Given the description of an element on the screen output the (x, y) to click on. 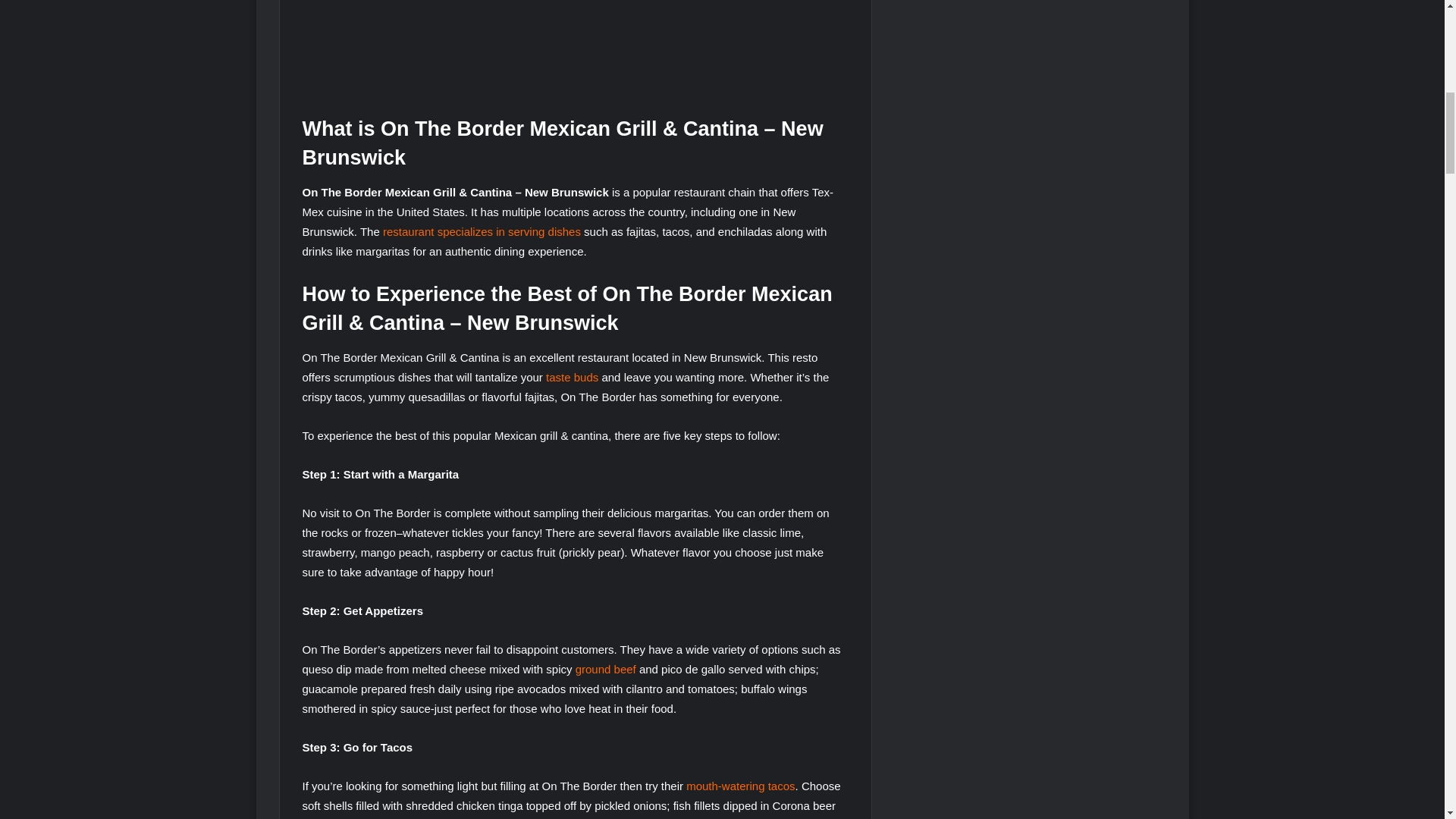
ground beef (605, 668)
mouth-watering tacos (739, 785)
taste buds (572, 377)
restaurant specializes in serving dishes (481, 231)
